Given the description of an element on the screen output the (x, y) to click on. 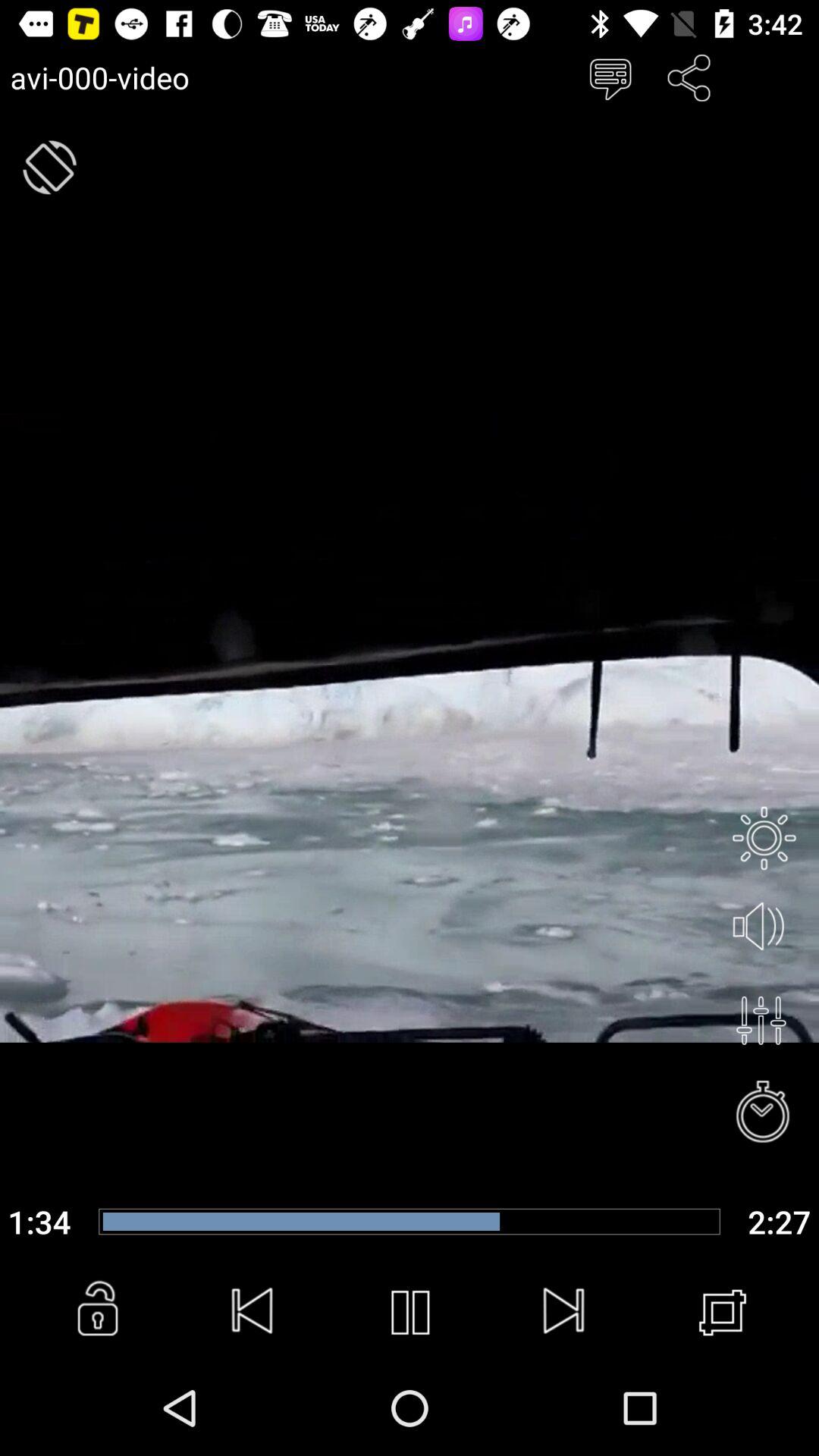
lock button (97, 1312)
